Given the description of an element on the screen output the (x, y) to click on. 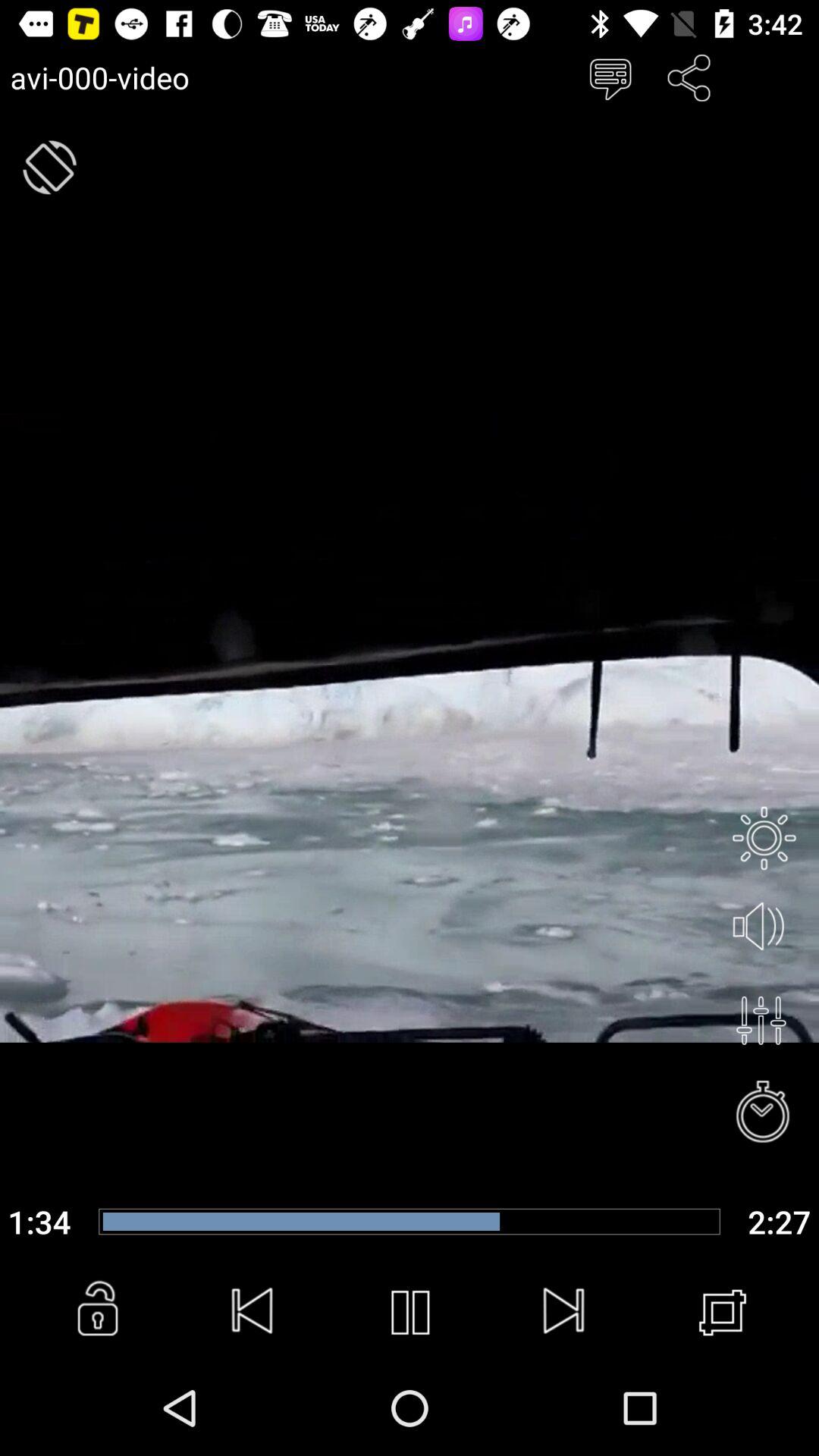
lock button (97, 1312)
